Given the description of an element on the screen output the (x, y) to click on. 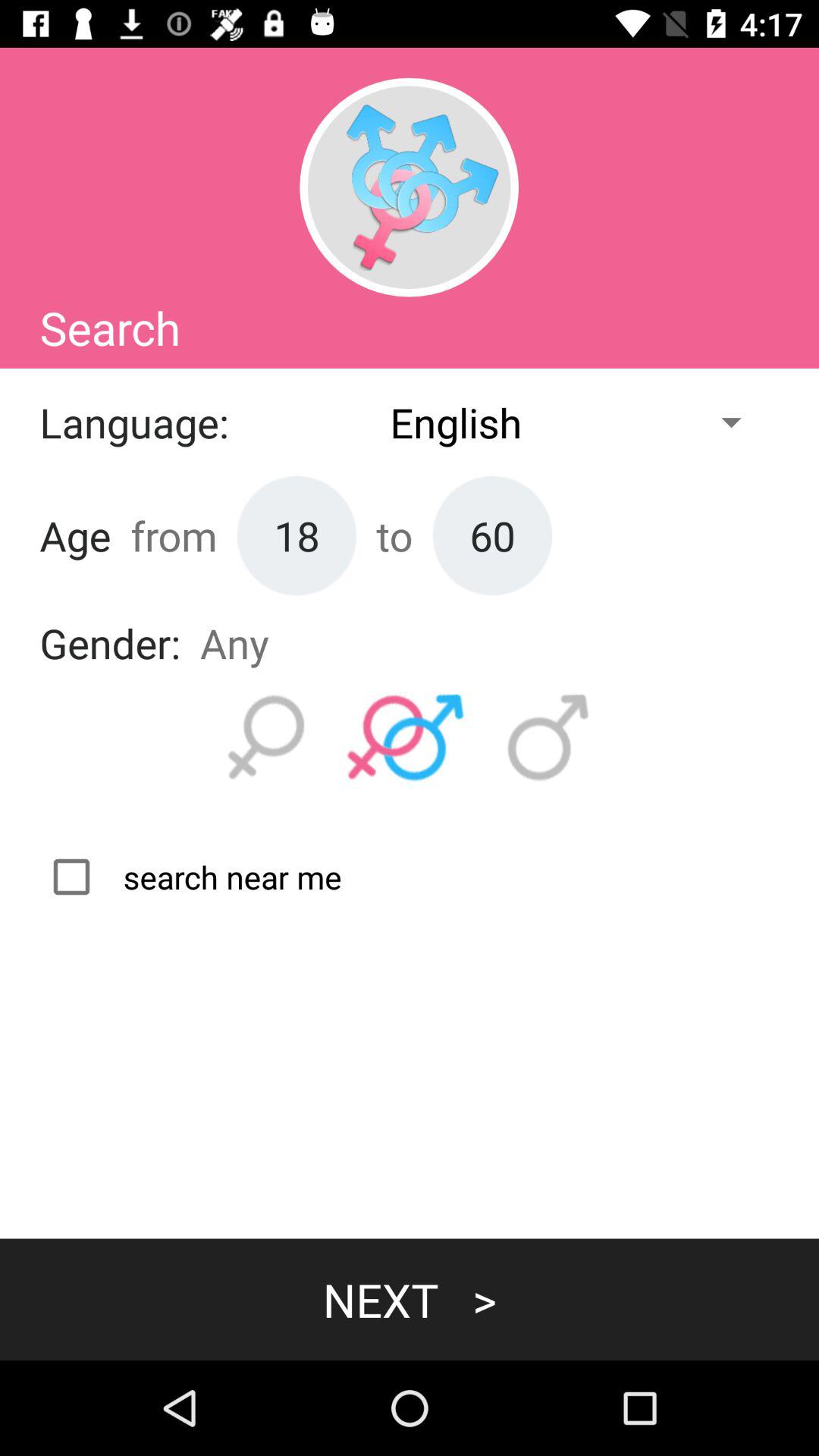
click on the button which is next to the to (492, 535)
click on the second image below the text any (406, 737)
click the check box which is near the text search near me (191, 876)
click on the first drop down (504, 421)
